Given the description of an element on the screen output the (x, y) to click on. 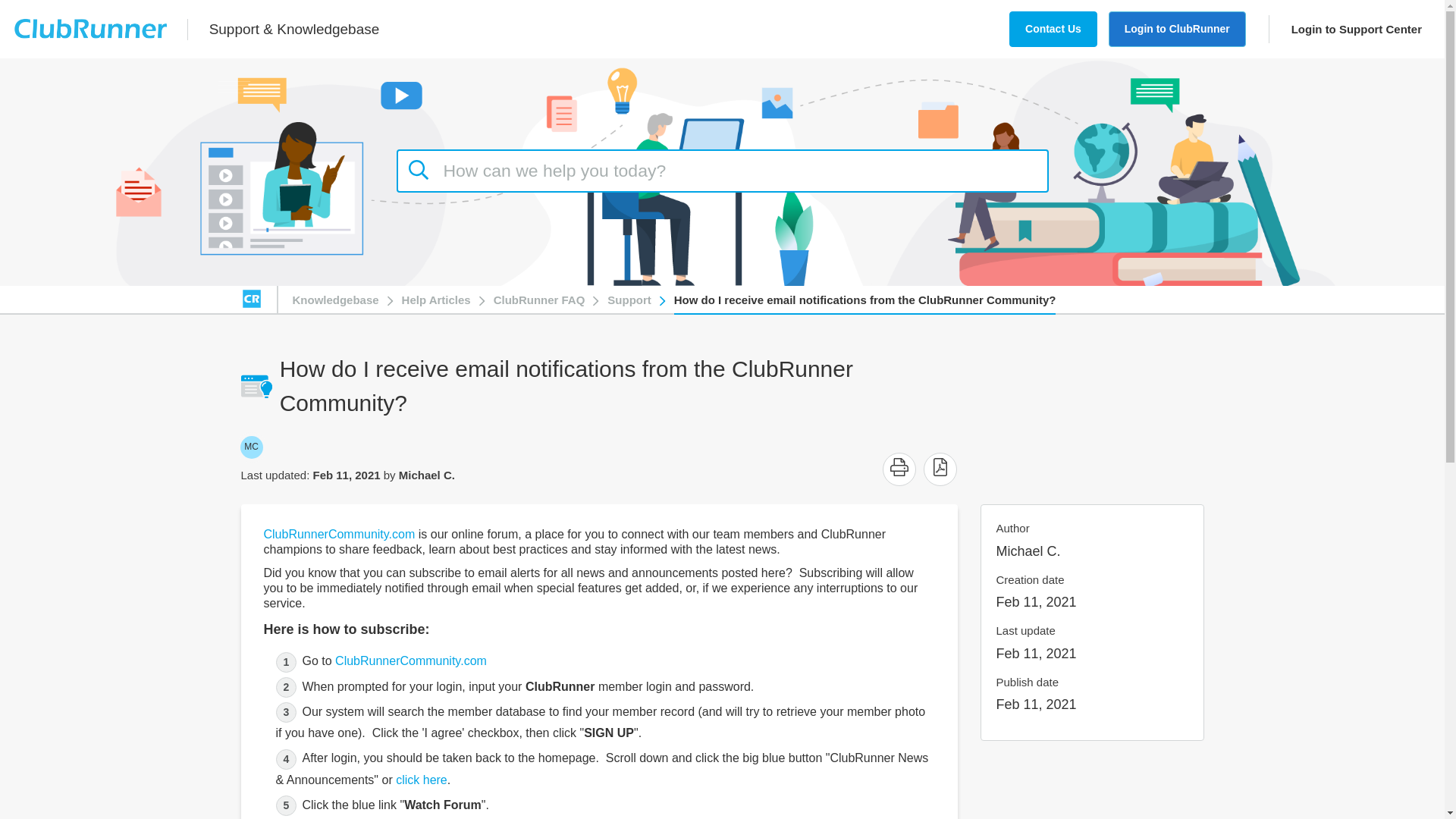
Help Articles (435, 299)
ClubRunnerCommunity.com (338, 533)
ClubRunnerCommunity.com (410, 660)
click here (421, 779)
ClubRunner FAQ (539, 299)
Michael C. (250, 447)
Print (898, 466)
Print (898, 469)
Contact Us (250, 447)
Pdf (1053, 28)
Knowledgebase (939, 469)
Print (335, 299)
Login to ClubRunner (898, 466)
